Given the description of an element on the screen output the (x, y) to click on. 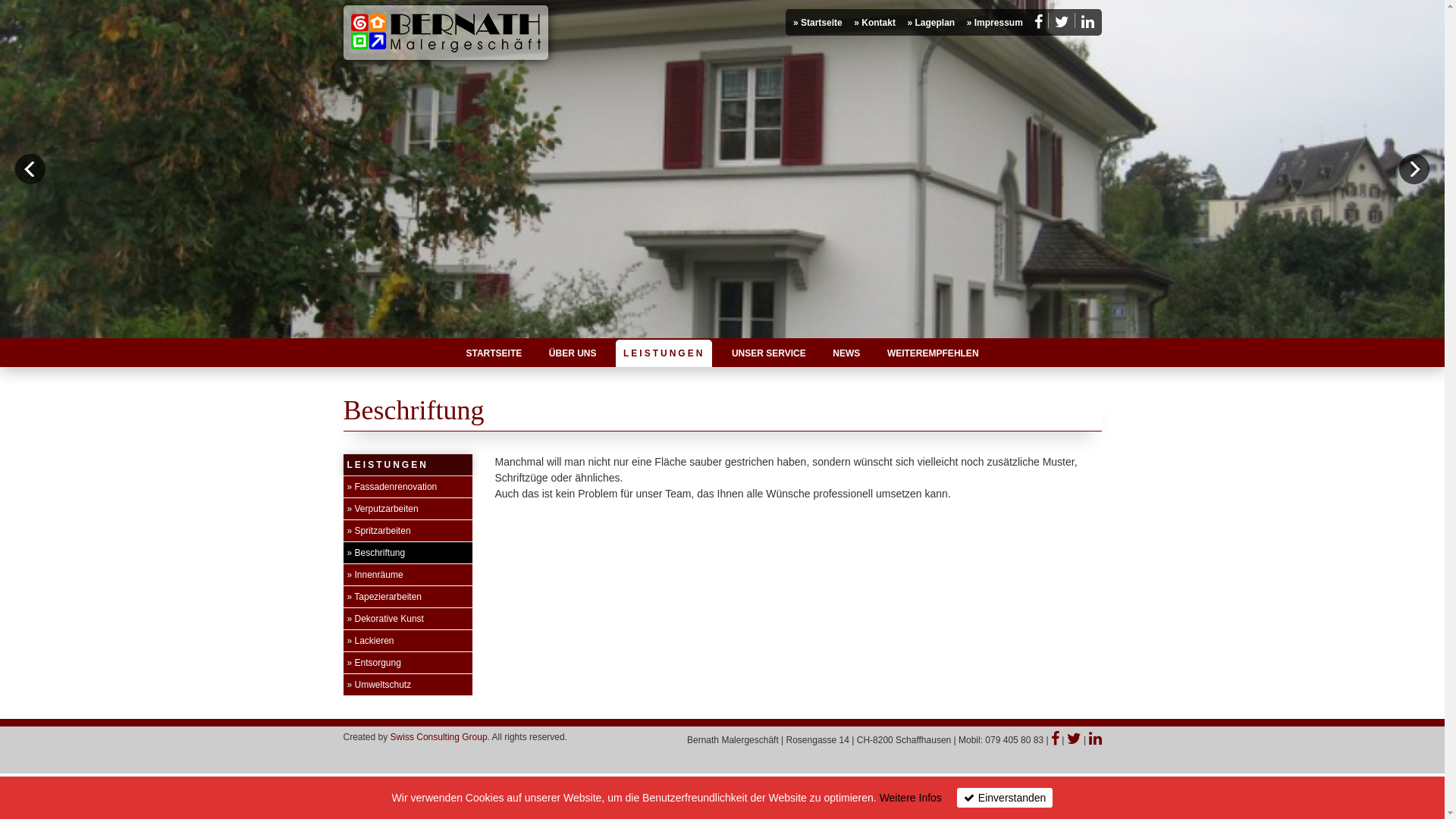
Verputzarbeiten Element type: text (381, 508)
Skip to content Element type: text (375, 353)
Swiss Consulting Group Element type: text (438, 736)
LEISTUNGEN Element type: text (663, 353)
Fassadenrenovation Element type: text (391, 486)
Lageplan Element type: text (930, 22)
Startseite Element type: text (817, 22)
STARTSEITE Element type: text (493, 353)
Kontakt Element type: text (874, 22)
Weitere Infos Element type: text (910, 797)
Tapezierarbeiten Element type: text (383, 596)
Dekorative Kunst Element type: text (384, 618)
Beschriftung Element type: text (375, 552)
Einverstanden Element type: text (1005, 797)
Entsorgung Element type: text (373, 662)
NEWS Element type: text (845, 353)
Lackieren Element type: text (369, 640)
Umweltschutz Element type: text (378, 684)
WEITEREMPFEHLEN Element type: text (933, 353)
Spritzarbeiten Element type: text (378, 530)
UNSER SERVICE Element type: text (768, 353)
Impressum Element type: text (994, 22)
